Given the description of an element on the screen output the (x, y) to click on. 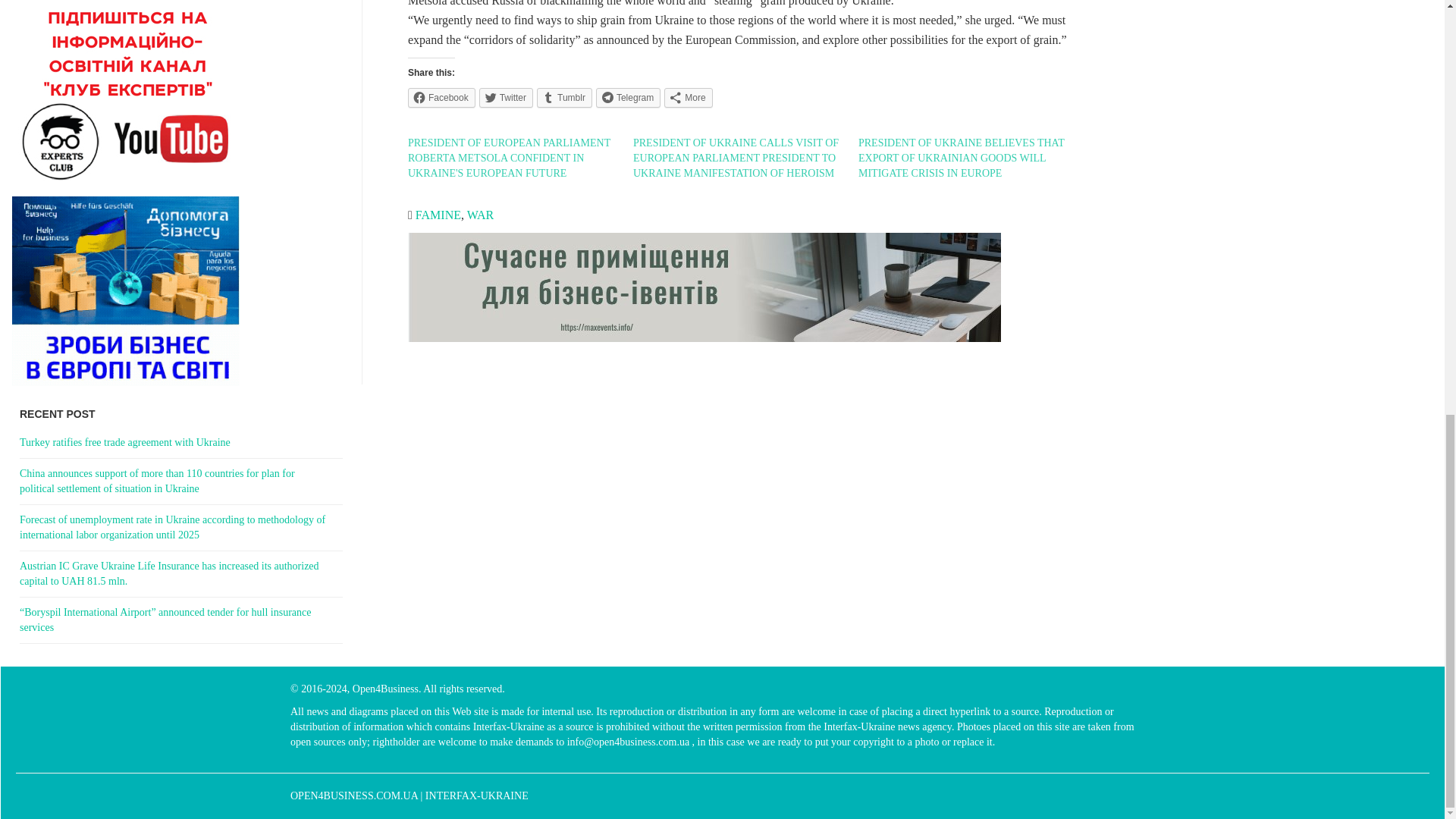
Telegram (628, 97)
Facebook (441, 97)
Twitter (505, 97)
FAMINE (437, 214)
WAR (481, 214)
More (687, 97)
Tumblr (564, 97)
